Given the description of an element on the screen output the (x, y) to click on. 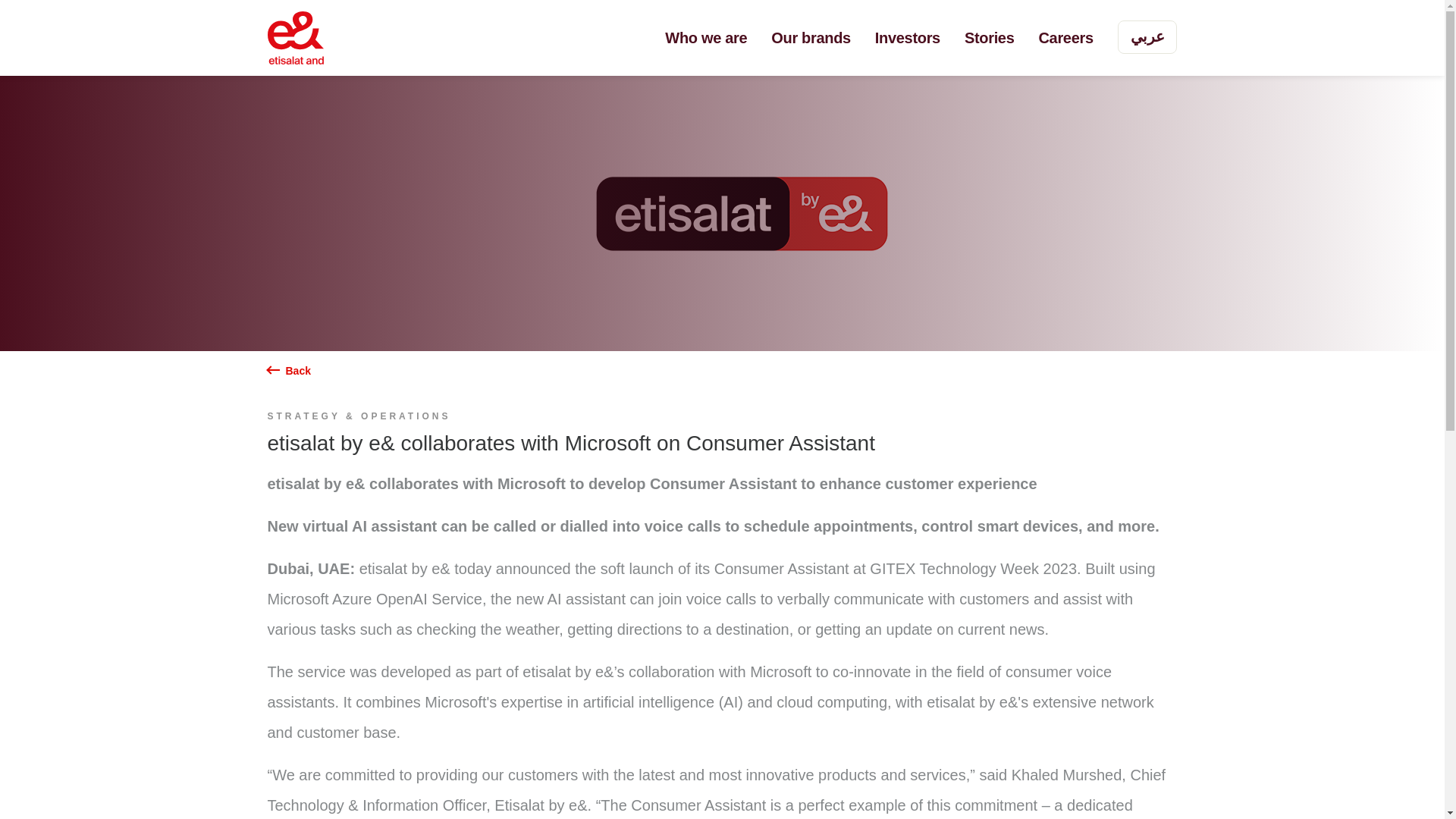
Our brands (810, 38)
Who we are (705, 38)
